Given the description of an element on the screen output the (x, y) to click on. 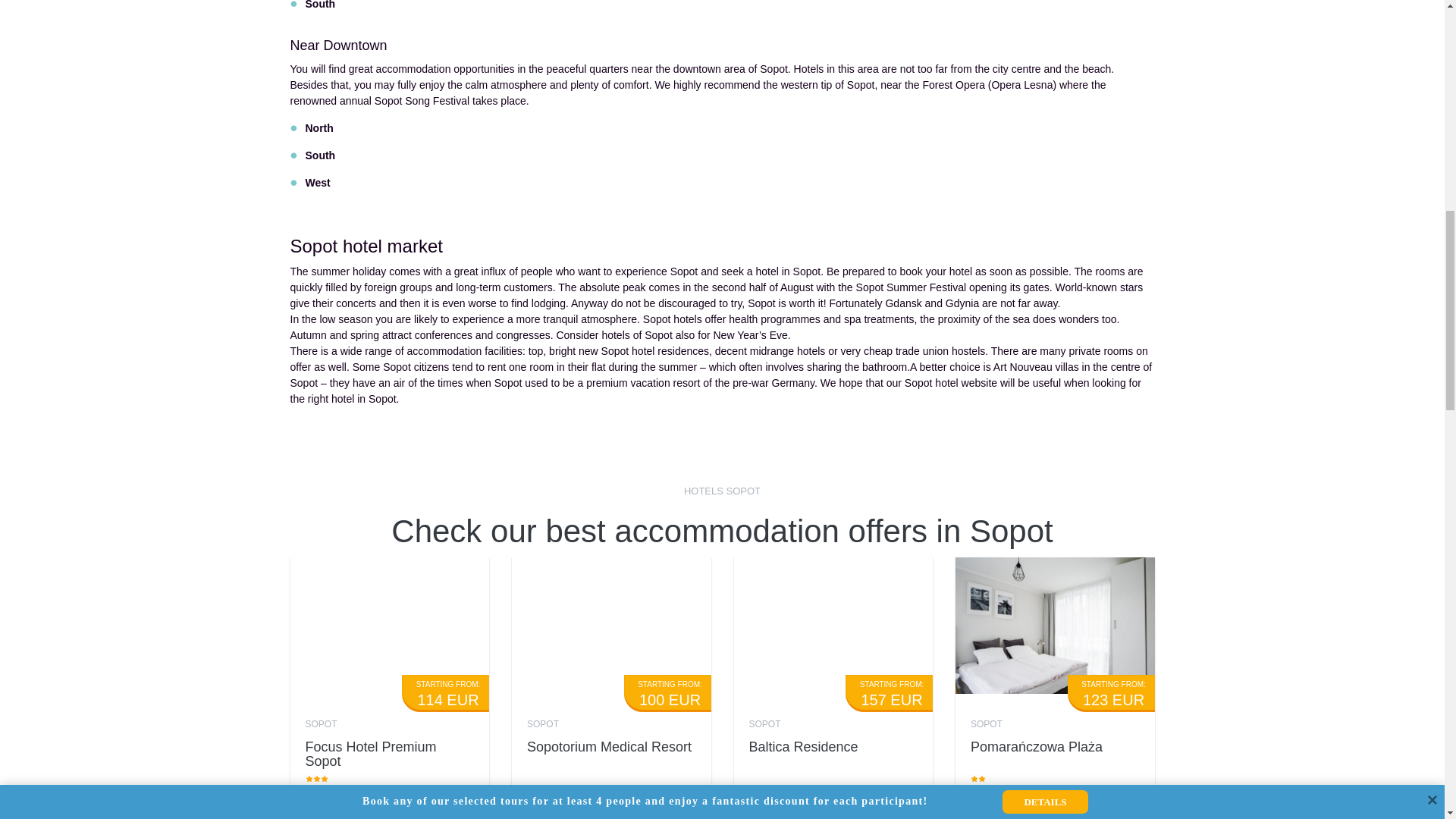
Baltica Residence (804, 746)
Sopotorium Medical Resort (609, 746)
Focus Hotel Premium Sopot (369, 754)
